Given the description of an element on the screen output the (x, y) to click on. 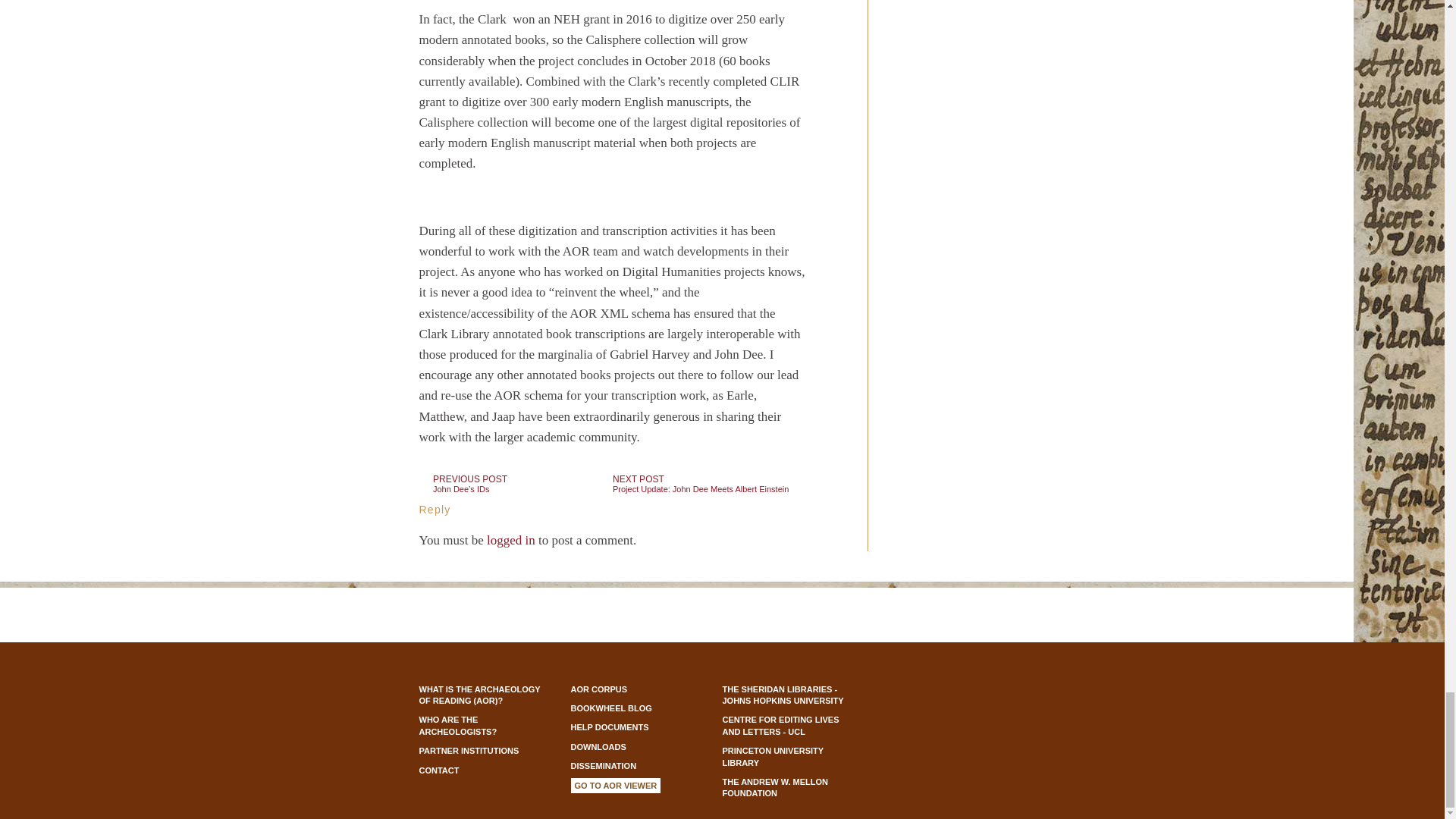
logged in (702, 484)
